Given the description of an element on the screen output the (x, y) to click on. 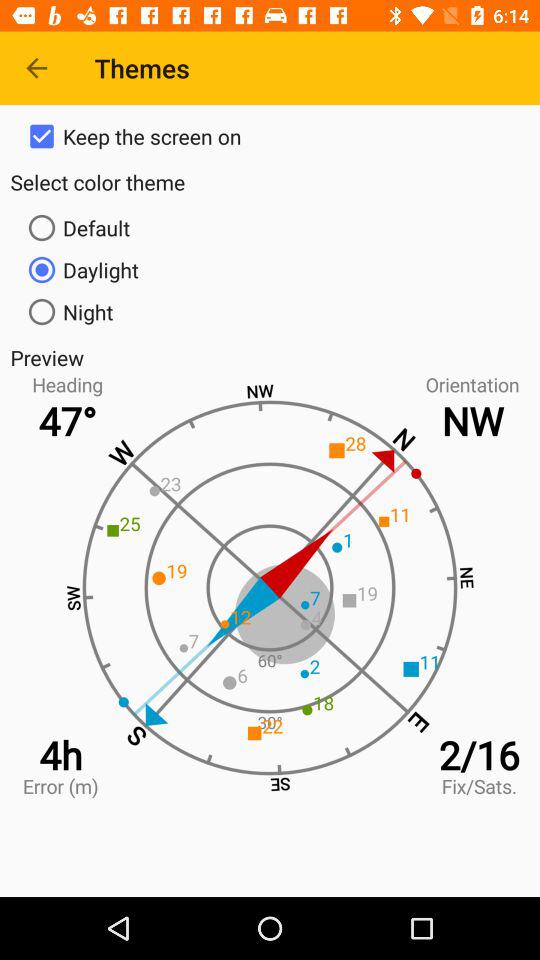
turn on item above the night (270, 269)
